Given the description of an element on the screen output the (x, y) to click on. 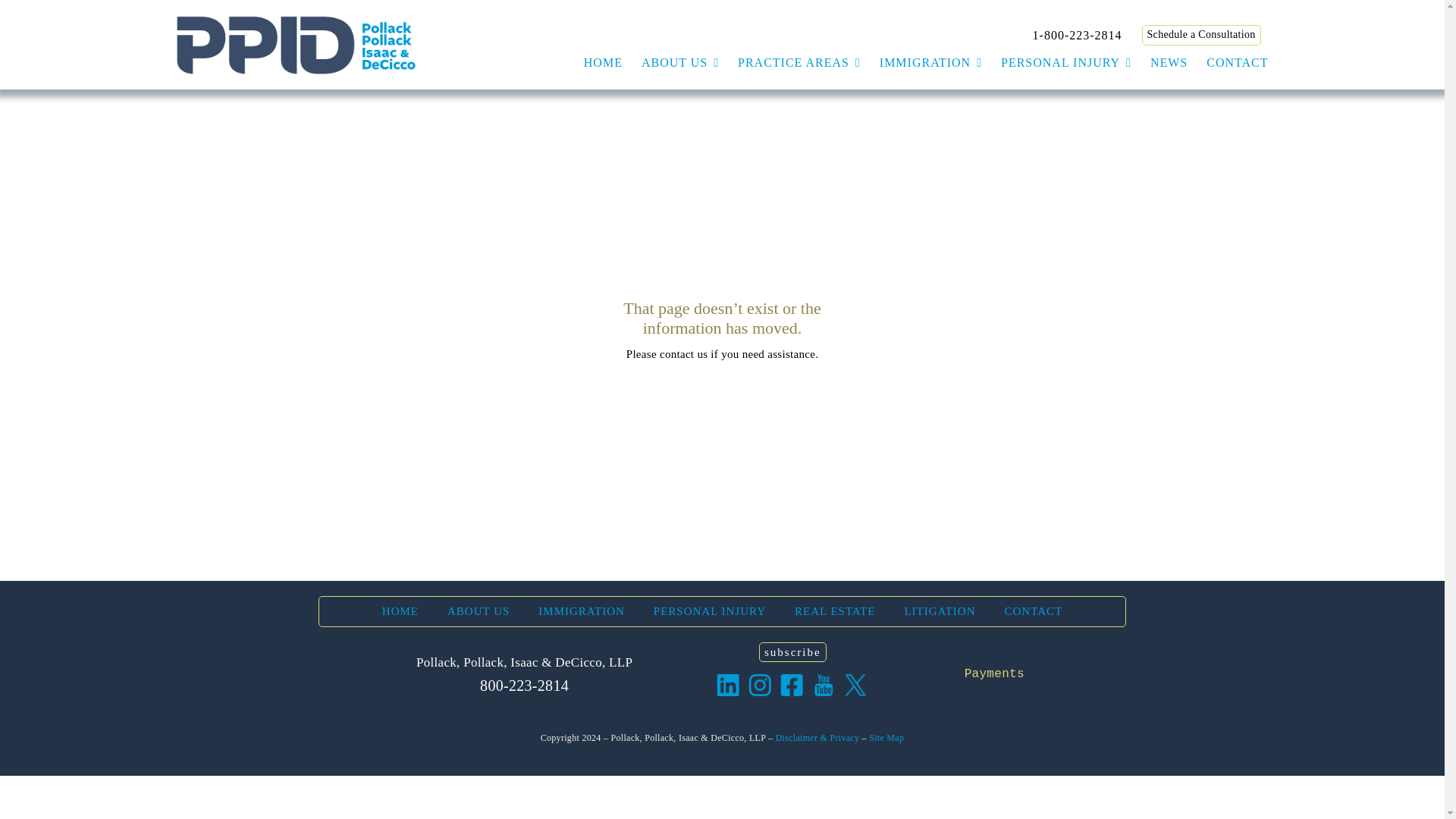
IMMIGRATION (930, 62)
NYC Personal Injury Lawyer (1066, 62)
NYC Immigration Lawyer (930, 62)
ABOUT US (680, 62)
Schedule a Consultation (1200, 35)
PRACTICE AREAS (799, 62)
HOME (603, 62)
Practice Areas (799, 62)
1-800-223-2814 (1076, 35)
PERSONAL INJURY (1066, 62)
